Given the description of an element on the screen output the (x, y) to click on. 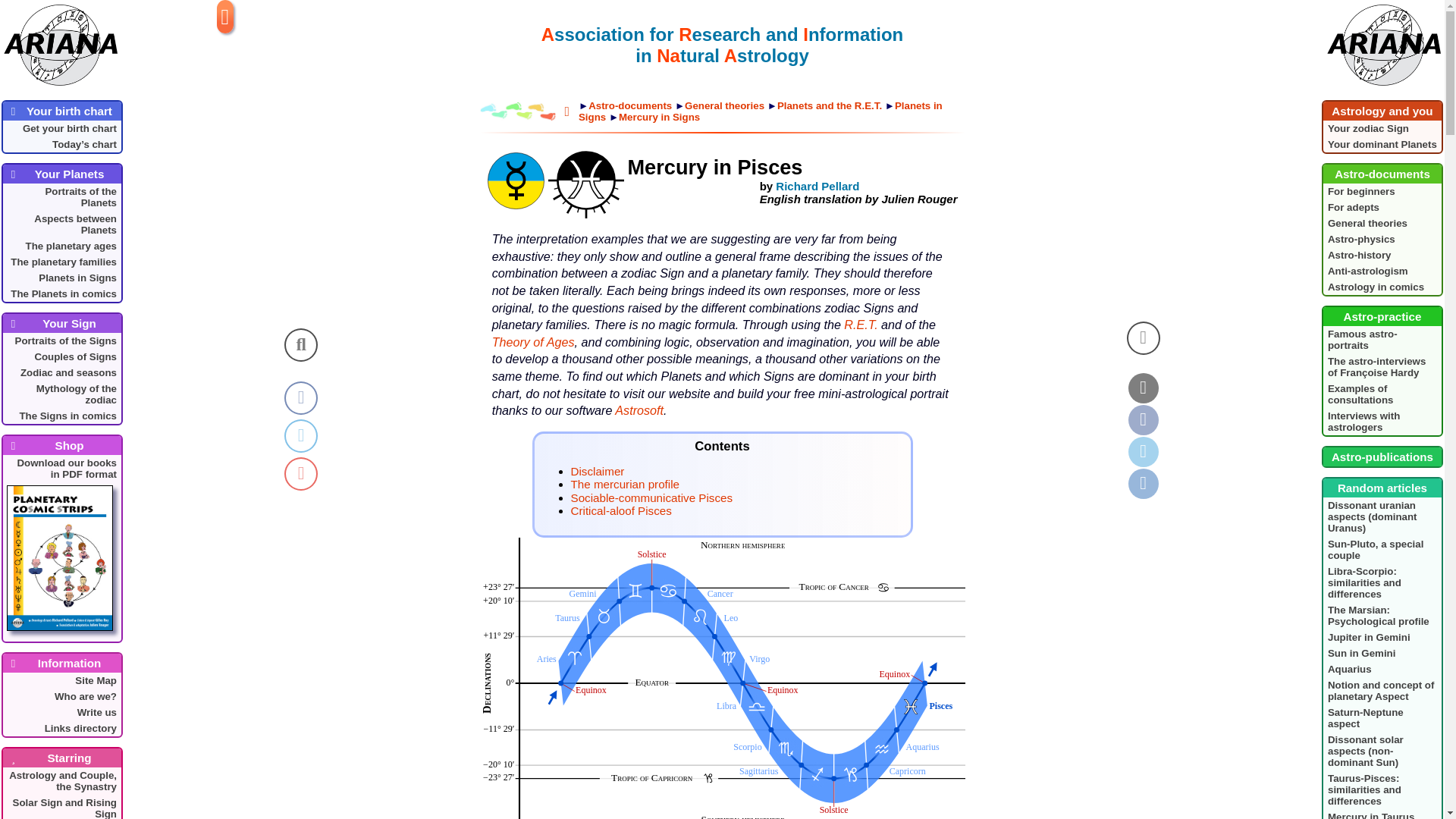
The planetary ages (61, 245)
Interviews with astrologers (1382, 420)
For beginners (1382, 191)
Mercury (514, 179)
Mythology of the zodiac (61, 393)
Examples of consultations (1382, 393)
Links directory (61, 728)
Astro-history (1382, 254)
Download our books in PDF format (61, 548)
Portraits of the Signs (61, 340)
The planetary families (61, 261)
The Planets in comics (61, 293)
Get your birth chart (61, 128)
General theories (1382, 222)
Famous astro-portraits (1382, 338)
